Given the description of an element on the screen output the (x, y) to click on. 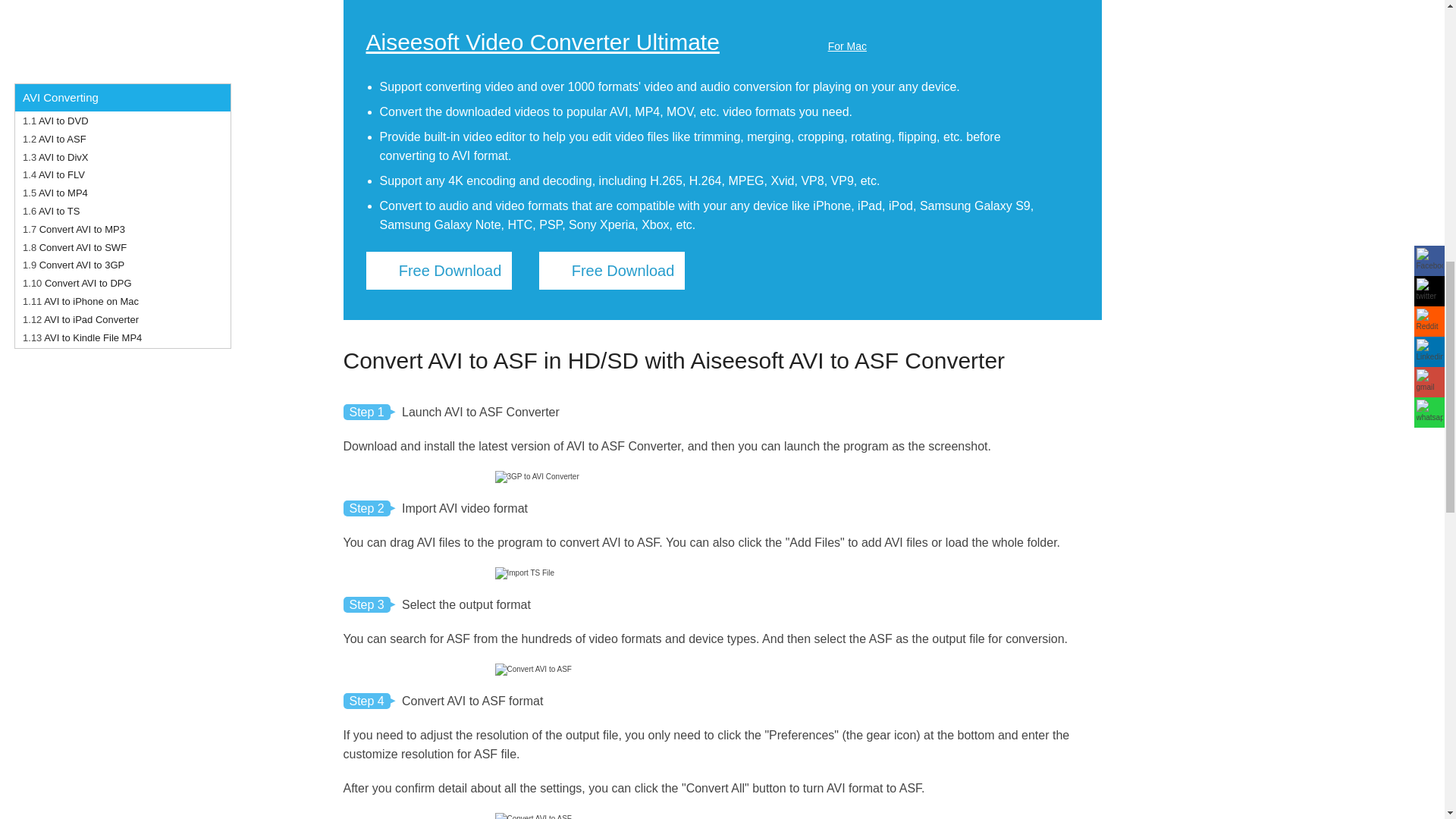
Free Download (611, 270)
Aiseesoft Video Converter Ultimate (542, 42)
Free Download (438, 270)
For Mac (827, 46)
